Given the description of an element on the screen output the (x, y) to click on. 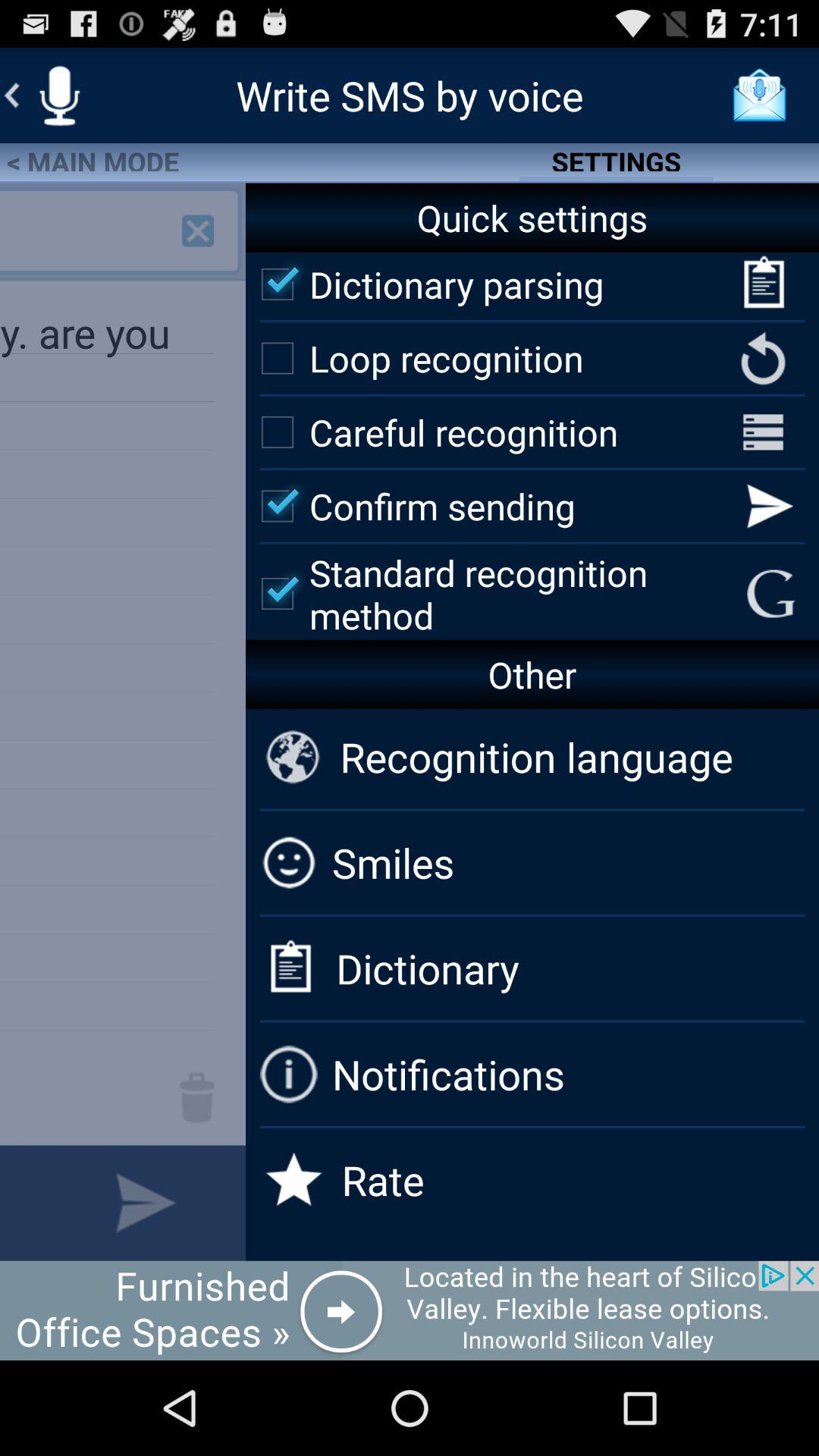
close pane (197, 230)
